Given the description of an element on the screen output the (x, y) to click on. 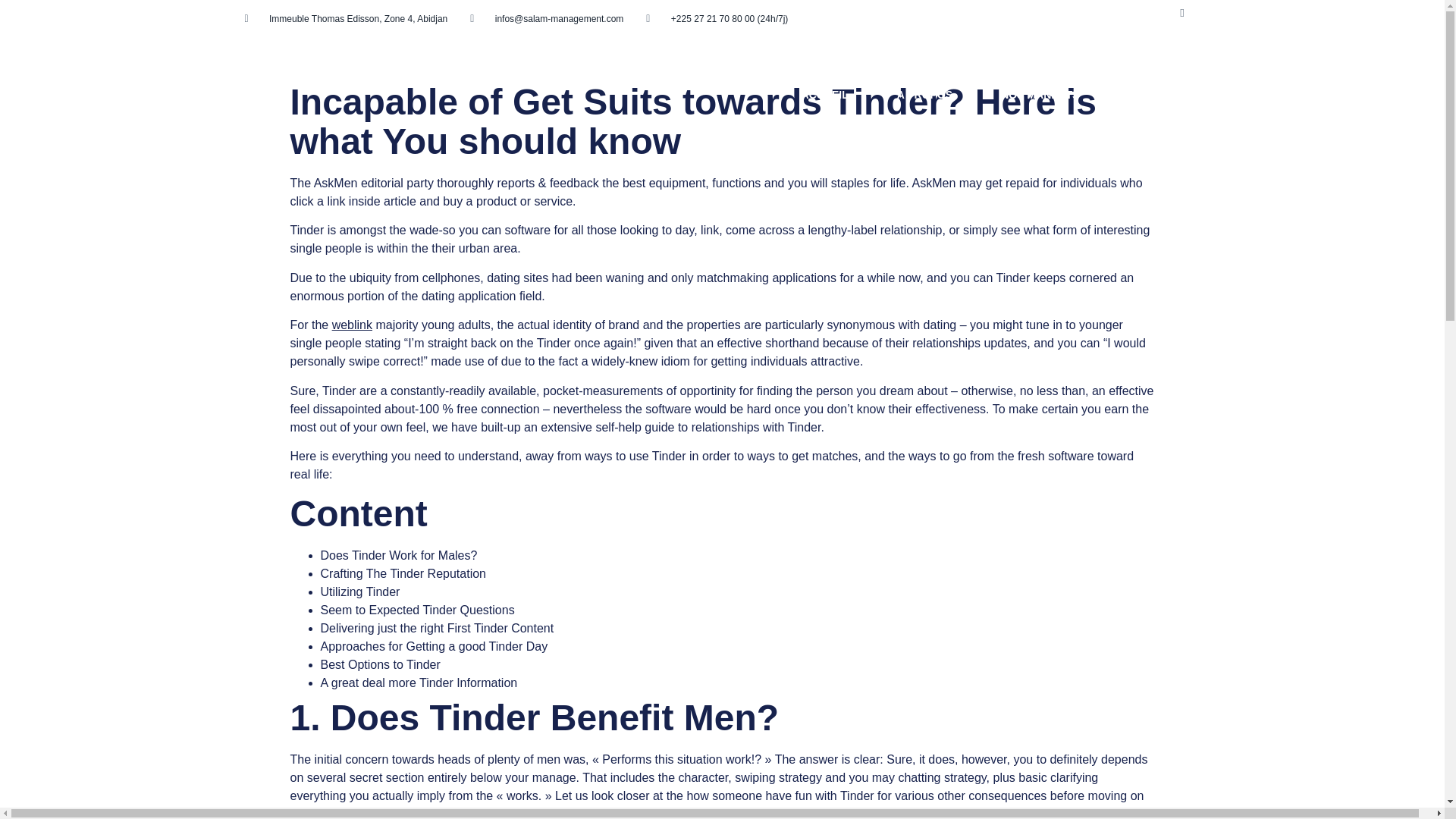
weblink (351, 324)
ACCUEIL (824, 94)
BLOG (1141, 94)
NOS MANDATS (1039, 94)
A PROPOS (924, 94)
CONTACTS (1384, 94)
NOTRE EXPERTISE (1256, 94)
